Given the description of an element on the screen output the (x, y) to click on. 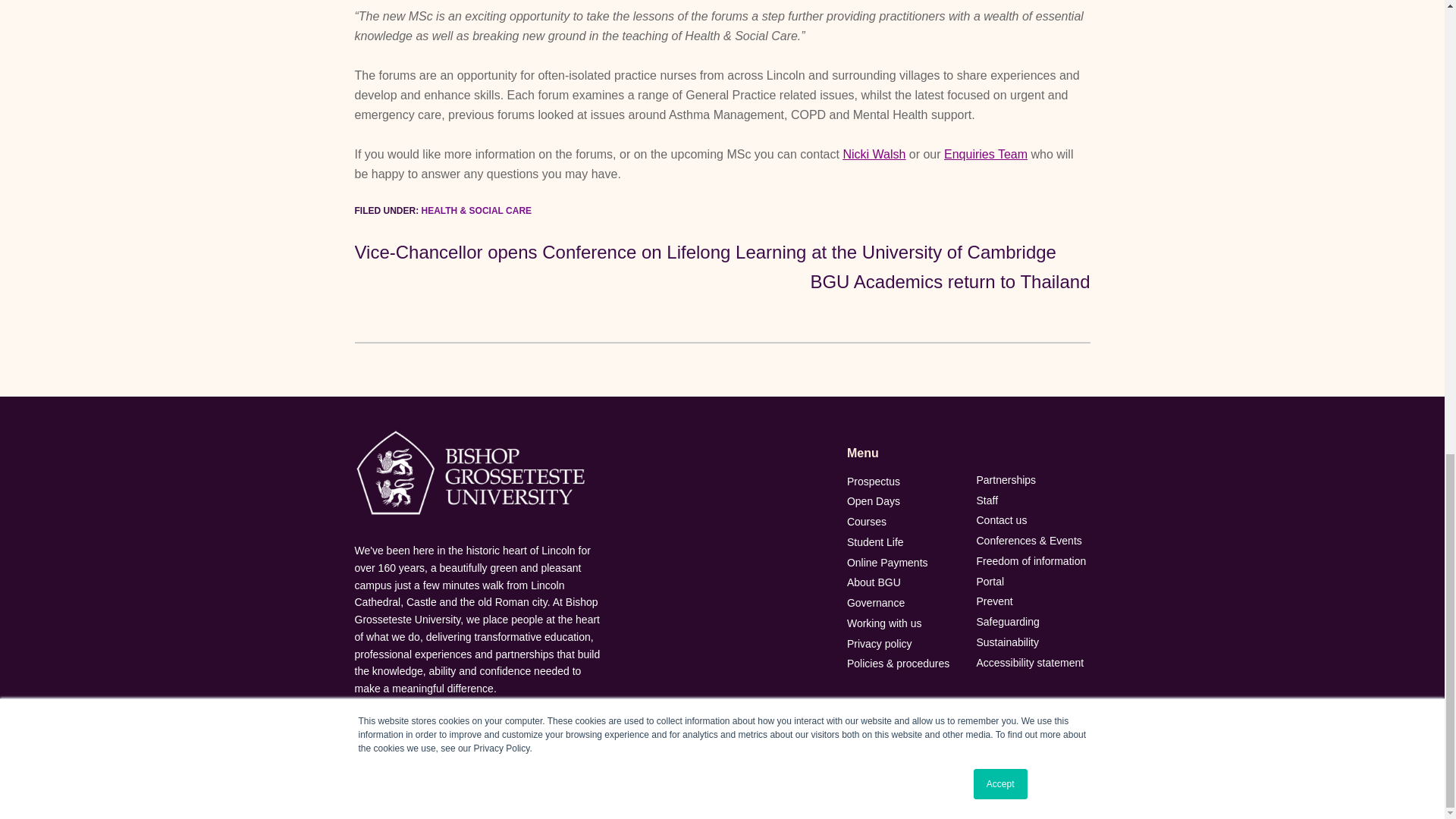
Courses (903, 521)
facebook (886, 770)
About BGU (903, 582)
twitter (917, 770)
Prospectus (903, 480)
Open Days (903, 501)
tiktok (1071, 770)
Enquiries Team (985, 154)
Nicki Walsh (874, 154)
Student Life (903, 542)
snapchat (979, 770)
instagram (948, 770)
Governance (903, 602)
BGU Academics return to Thailand (949, 281)
